Given the description of an element on the screen output the (x, y) to click on. 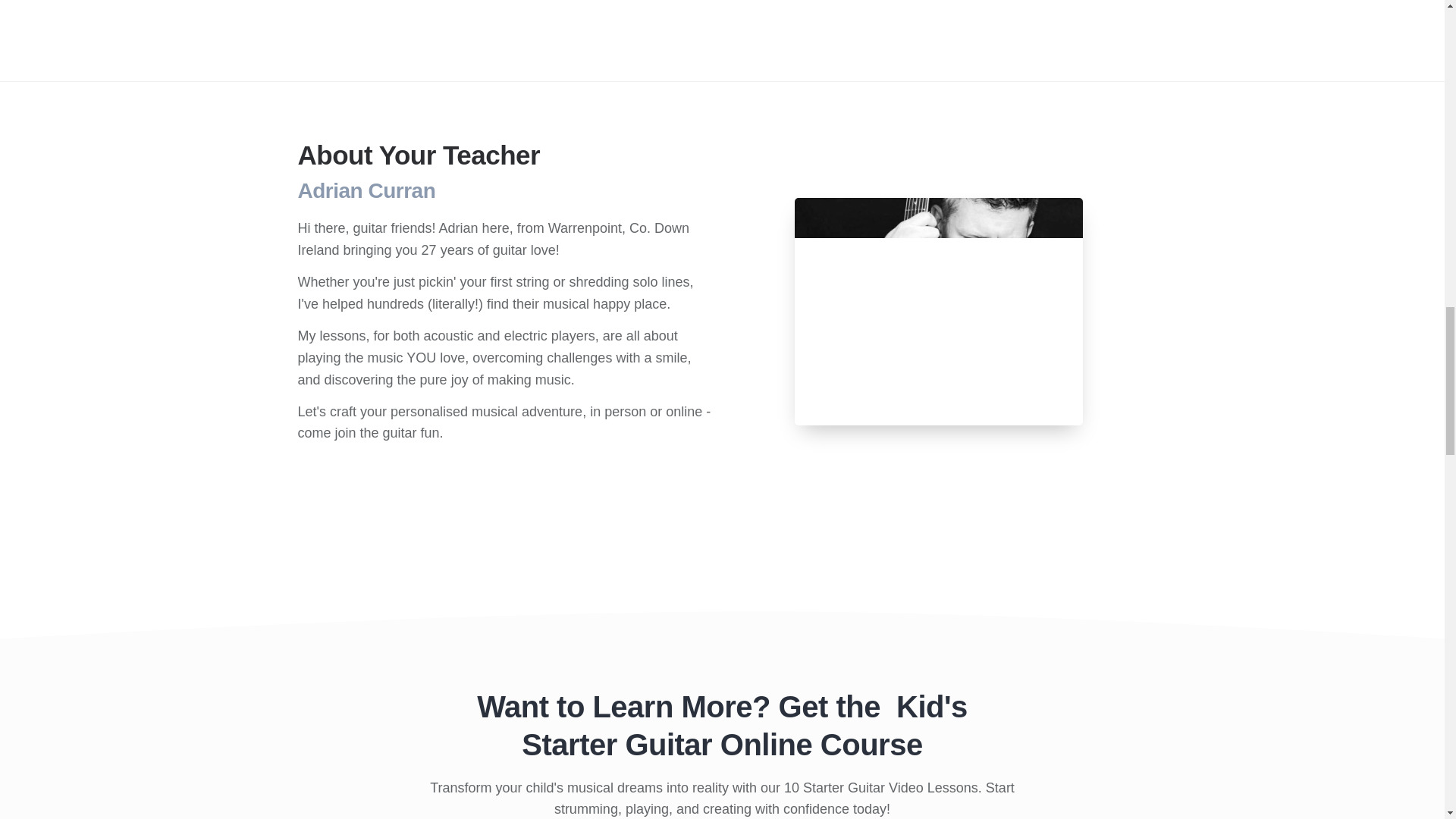
Adrian Curran Guitars (938, 311)
